Given the description of an element on the screen output the (x, y) to click on. 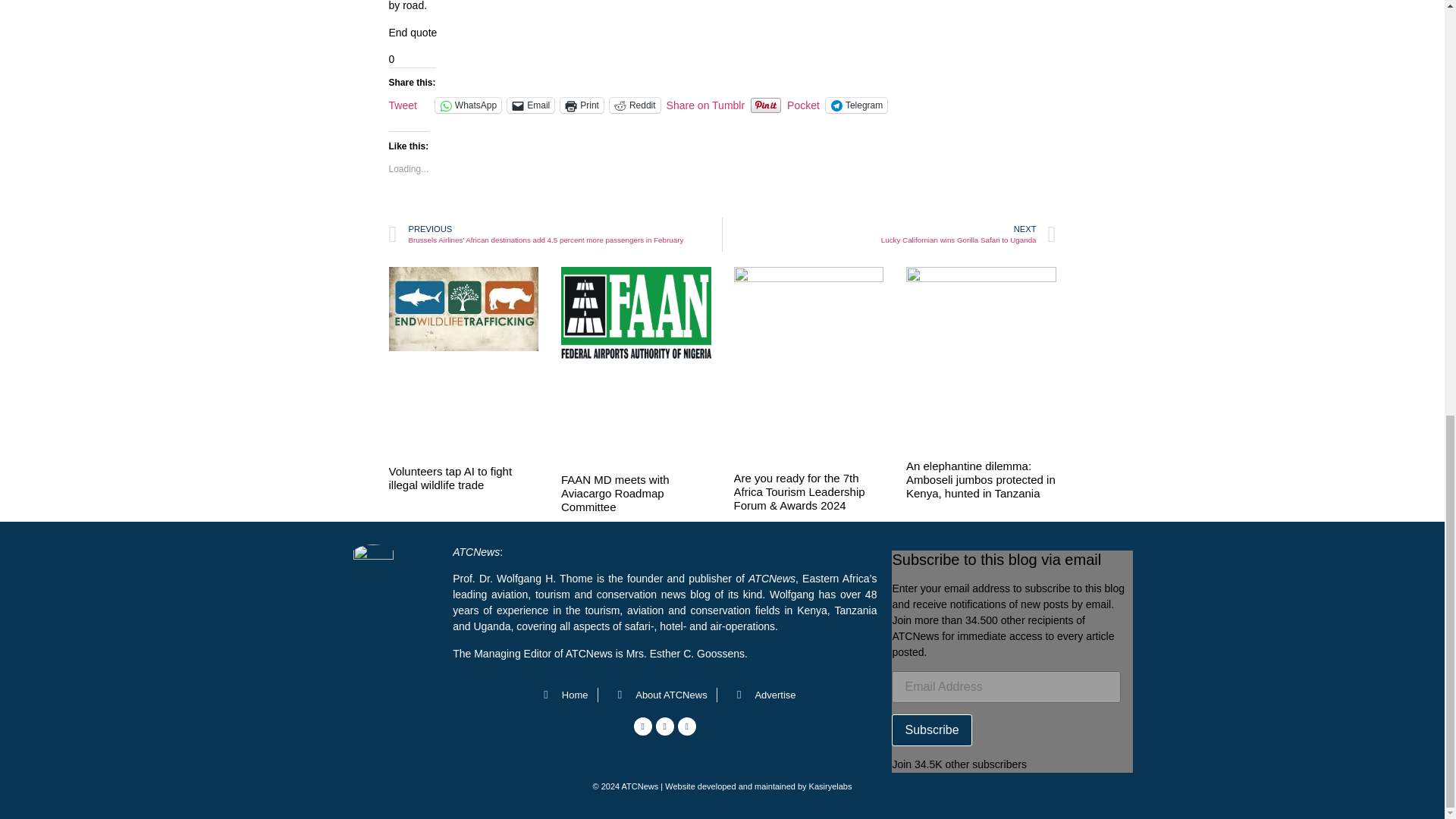
Subscribe (931, 730)
Volunteers tap AI to fight illegal wildlife trade (450, 478)
Click to share on WhatsApp (467, 105)
Print (582, 105)
Share on Tumblr (705, 104)
Home (561, 694)
Telegram (855, 105)
Click to print (582, 105)
WhatsApp (467, 105)
Reddit (635, 105)
